Given the description of an element on the screen output the (x, y) to click on. 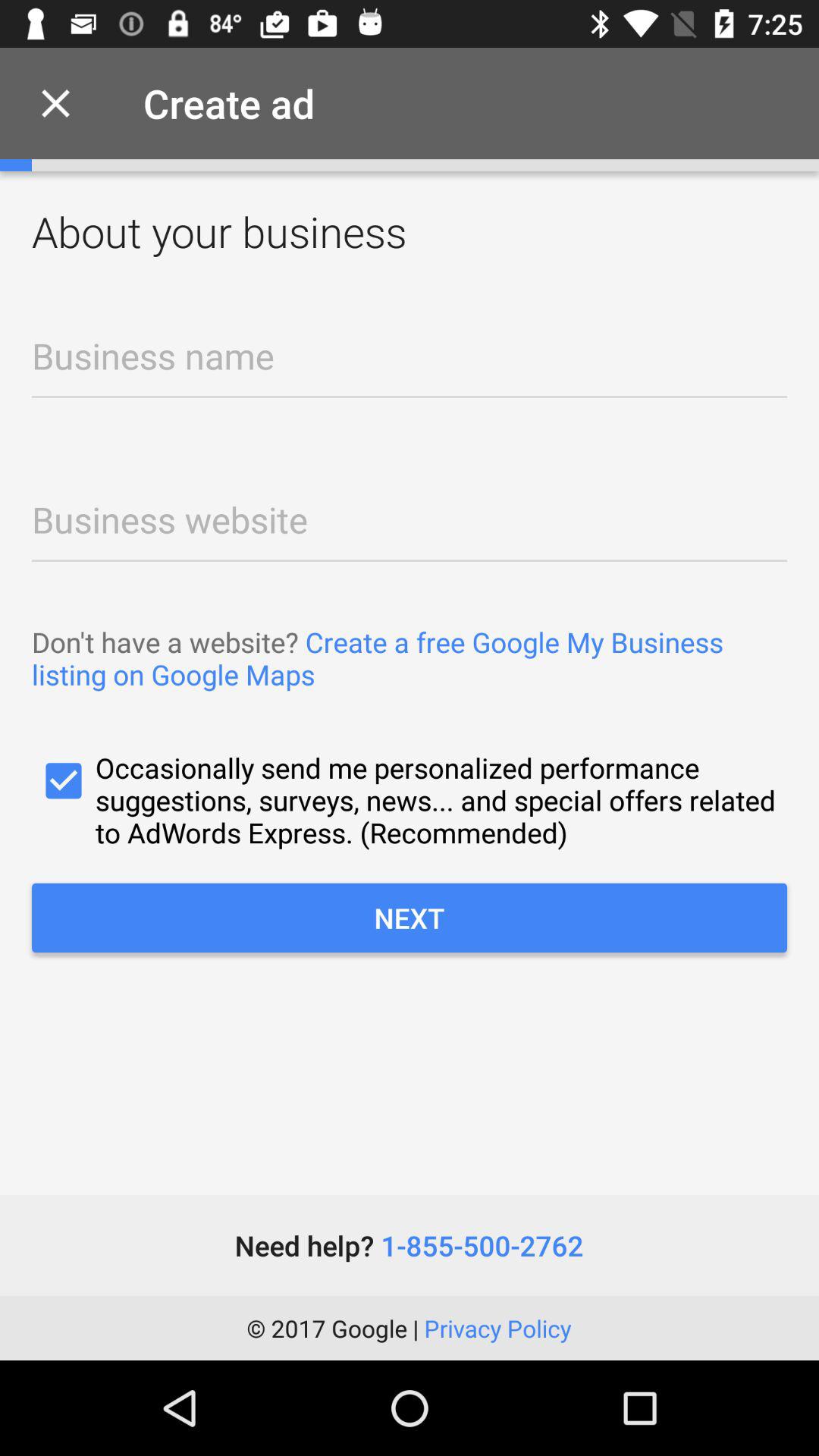
turn on the 2017 google privacy (408, 1328)
